Given the description of an element on the screen output the (x, y) to click on. 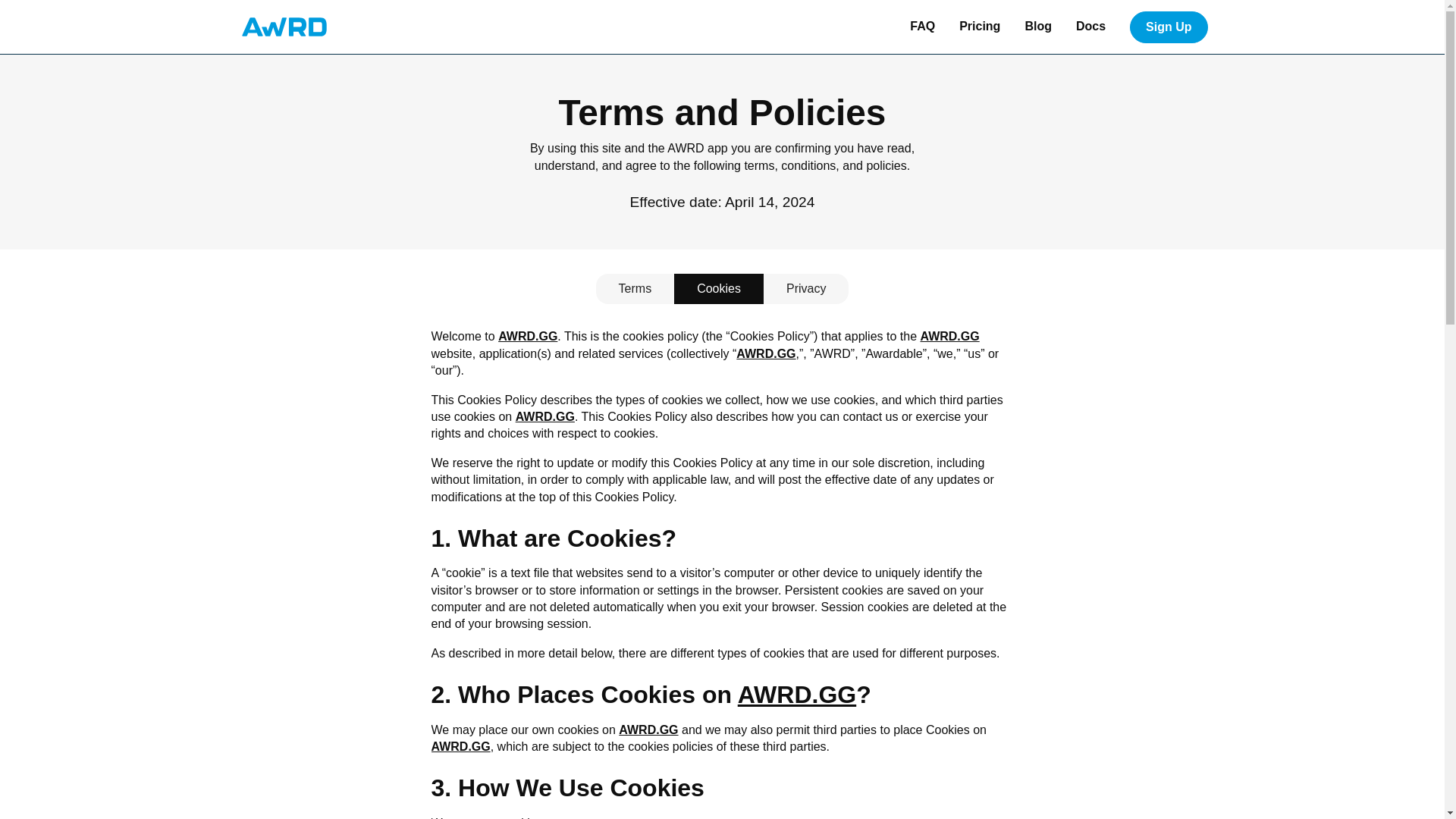
Privacy (805, 288)
Terms (635, 288)
Docs (1091, 26)
Pricing (979, 26)
Sign Up (1168, 26)
Cookies (718, 288)
FAQ (922, 26)
Blog (1037, 26)
